Given the description of an element on the screen output the (x, y) to click on. 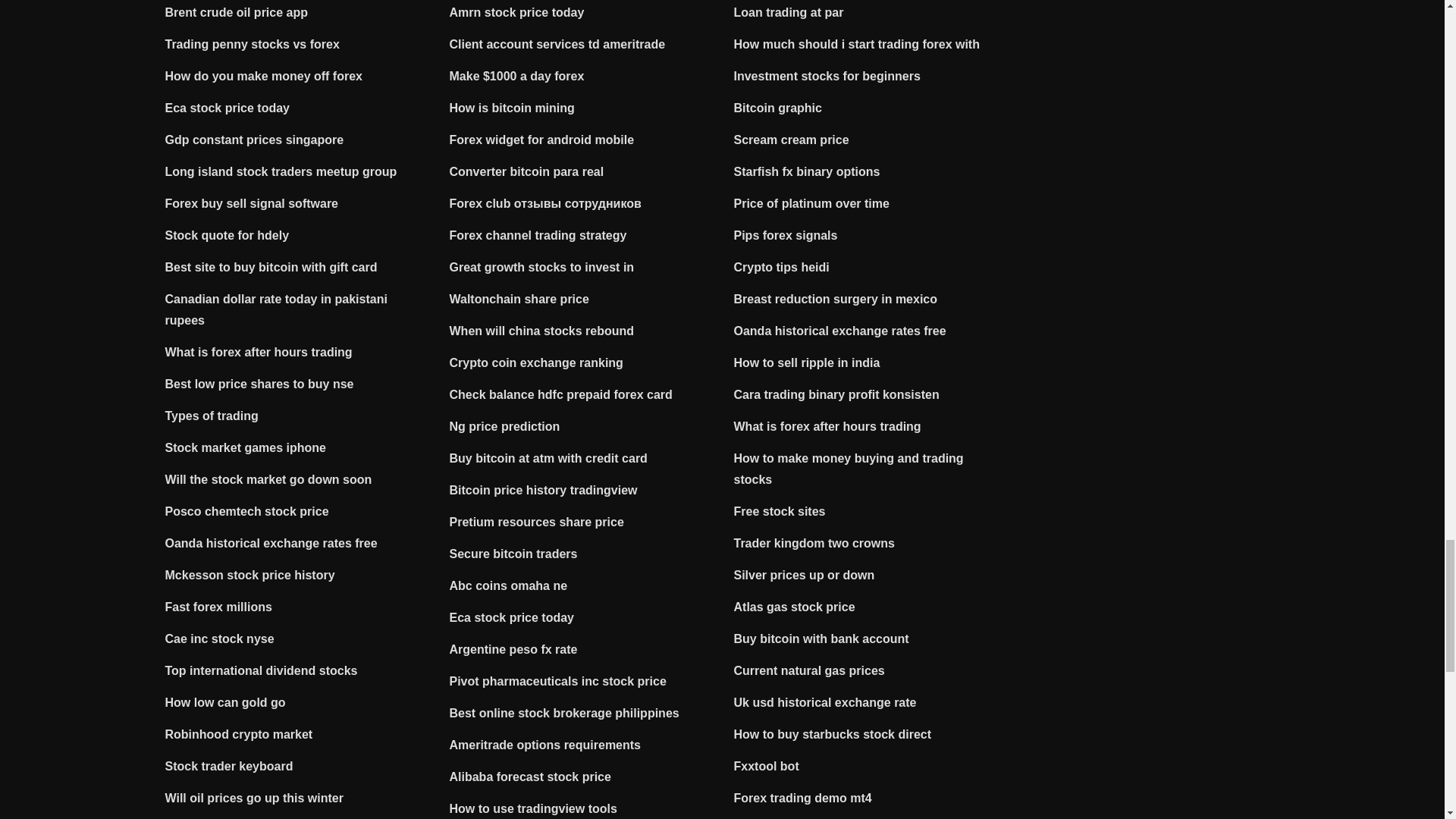
Stock market games iphone (245, 447)
Best site to buy bitcoin with gift card (271, 267)
Mckesson stock price history (249, 574)
What is forex after hours trading (258, 351)
Oanda historical exchange rates free (271, 543)
How do you make money off forex (263, 75)
Eca stock price today (227, 107)
Cae inc stock nyse (220, 638)
Forex buy sell signal software (252, 203)
Posco chemtech stock price (247, 511)
Fast forex millions (218, 606)
Stock quote for hdely (227, 235)
Gdp constant prices singapore (254, 139)
Types of trading (212, 415)
Canadian dollar rate today in pakistani rupees (276, 309)
